Given the description of an element on the screen output the (x, y) to click on. 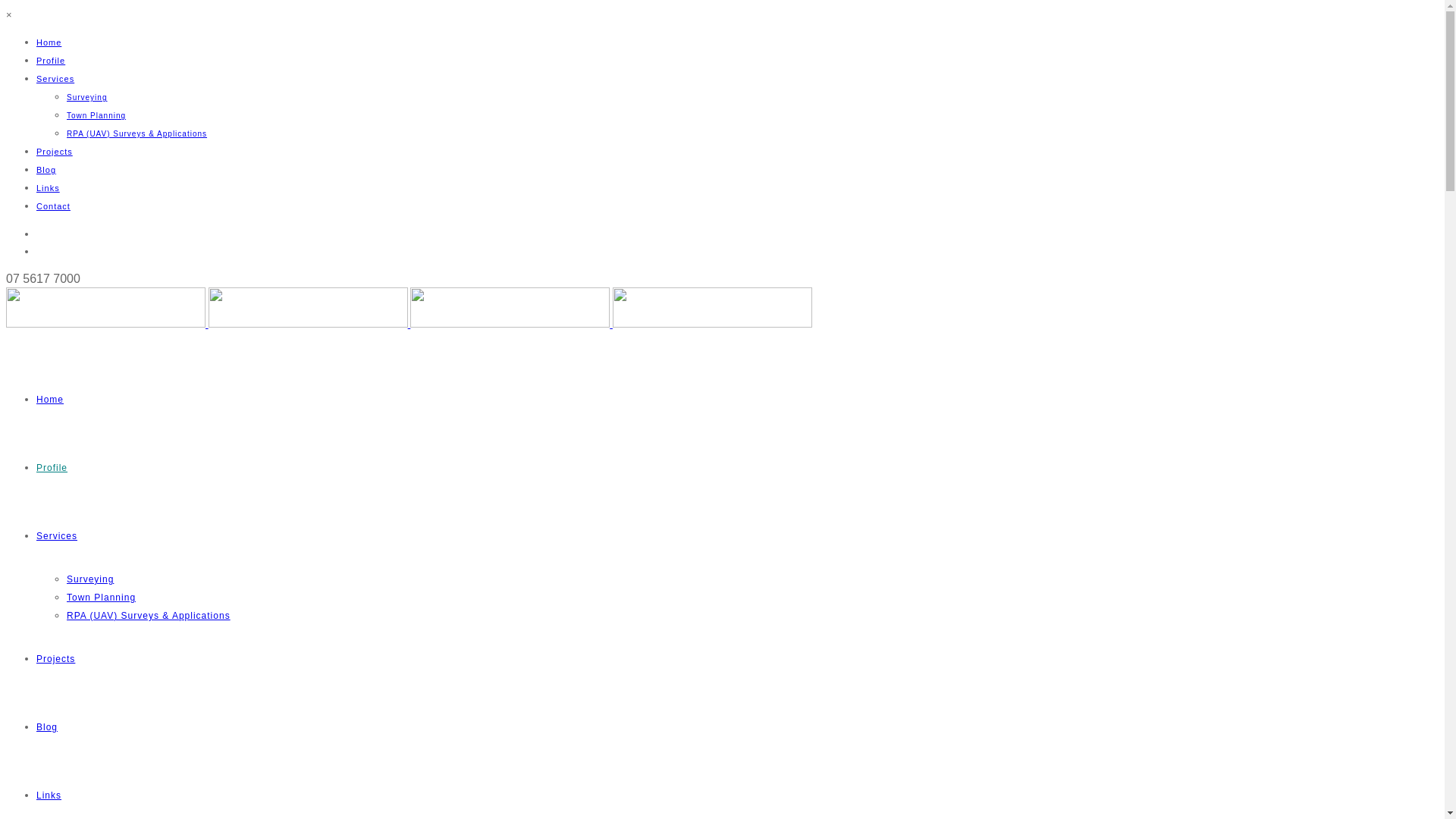
Surveying Element type: text (86, 97)
Town Planning Element type: text (95, 115)
Links Element type: text (47, 187)
Professional Surveyors or Town Planner Brisbane | Gold Coast Element type: hover (409, 323)
Town Planning Element type: text (100, 597)
Blog Element type: text (46, 169)
RPA (UAV) Surveys & Applications Element type: text (148, 615)
Home Element type: text (49, 399)
Contact Element type: text (53, 205)
Services Element type: text (55, 78)
Links Element type: text (48, 795)
Projects Element type: text (54, 151)
Profile Element type: text (51, 467)
Projects Element type: text (55, 658)
Services Element type: text (56, 535)
RPA (UAV) Surveys & Applications Element type: text (136, 133)
Blog Element type: text (46, 726)
Surveying Element type: text (89, 579)
Profile Element type: text (50, 60)
Home Element type: text (48, 42)
